Given the description of an element on the screen output the (x, y) to click on. 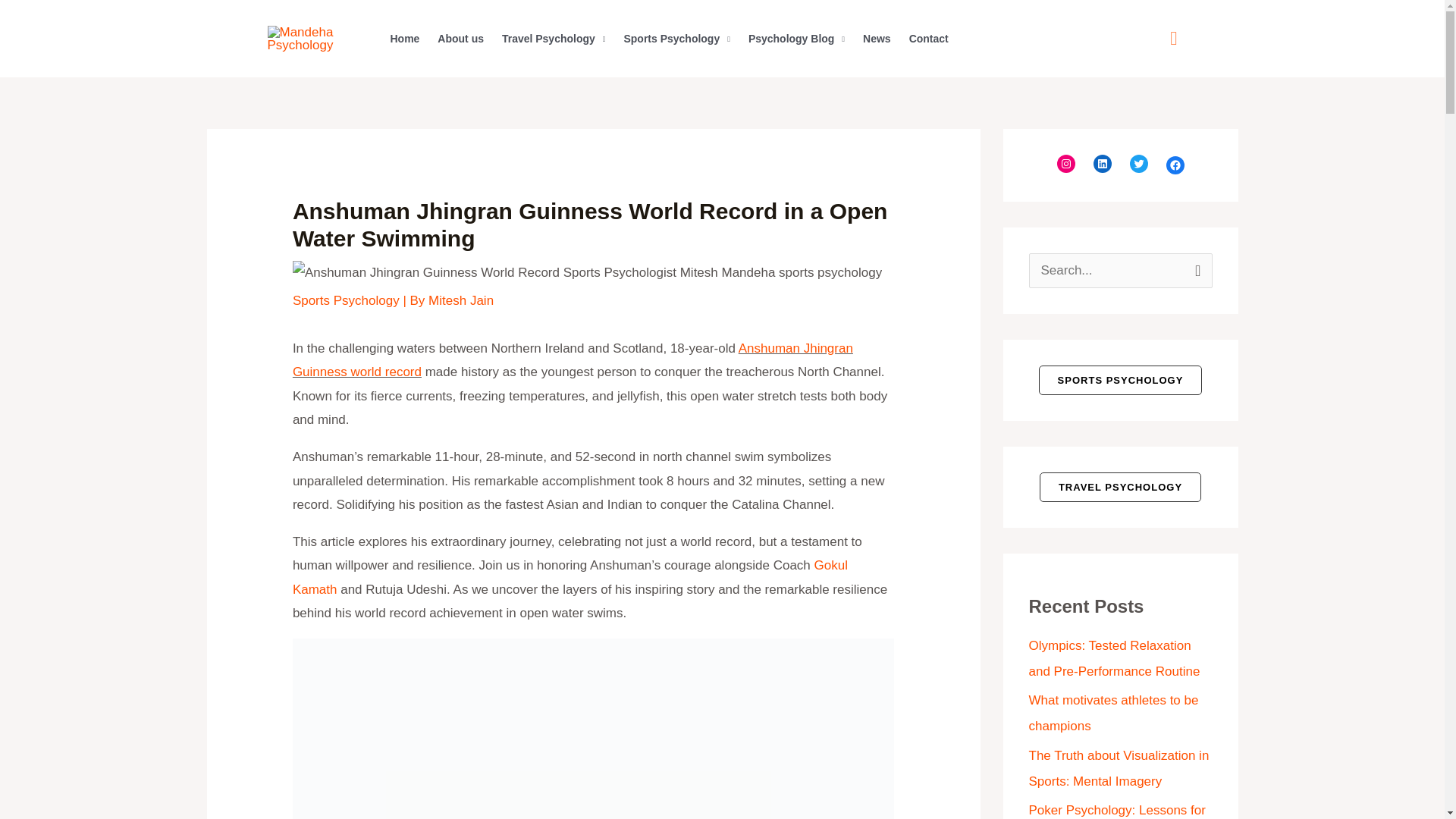
Search (1194, 269)
View all posts by Mitesh Jain (460, 300)
About us (460, 38)
Psychology Blog (796, 38)
Search (1194, 269)
Travel Psychology (553, 38)
Contact (928, 38)
Home (404, 38)
Sports Psychology (676, 38)
